Given the description of an element on the screen output the (x, y) to click on. 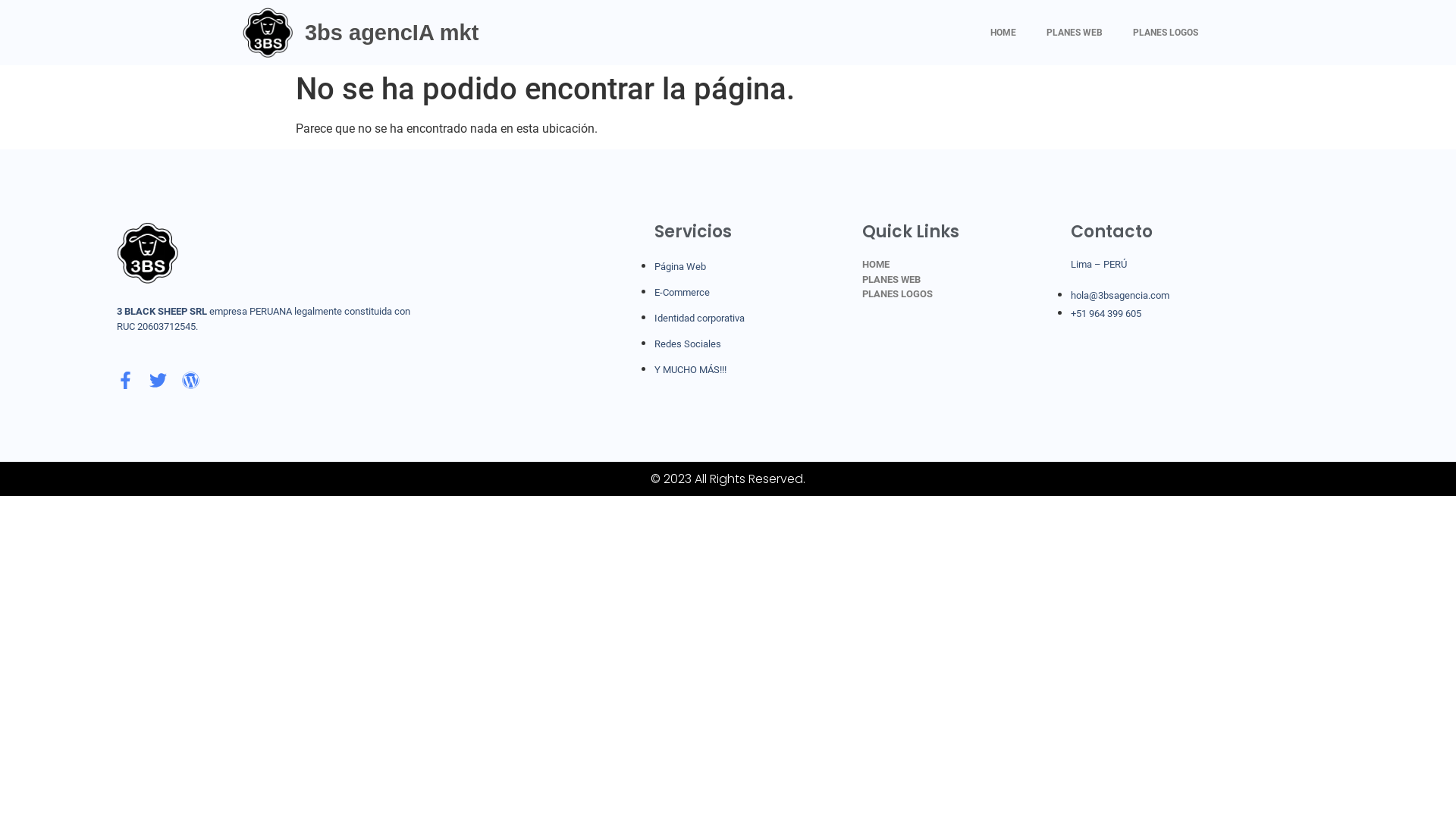
HOME Element type: text (1003, 32)
Redes Sociales Element type: text (687, 343)
HOME Element type: text (966, 264)
PLANES LOGOS Element type: text (966, 293)
+51 964 399 605 Element type: text (1105, 313)
Identidad corporativa Element type: text (699, 317)
hola@3bsagencia.com Element type: text (1119, 295)
E-Commerce Element type: text (681, 292)
PLANES WEB Element type: text (966, 279)
PLANES LOGOS Element type: text (1165, 32)
PLANES WEB Element type: text (1074, 32)
